Given the description of an element on the screen output the (x, y) to click on. 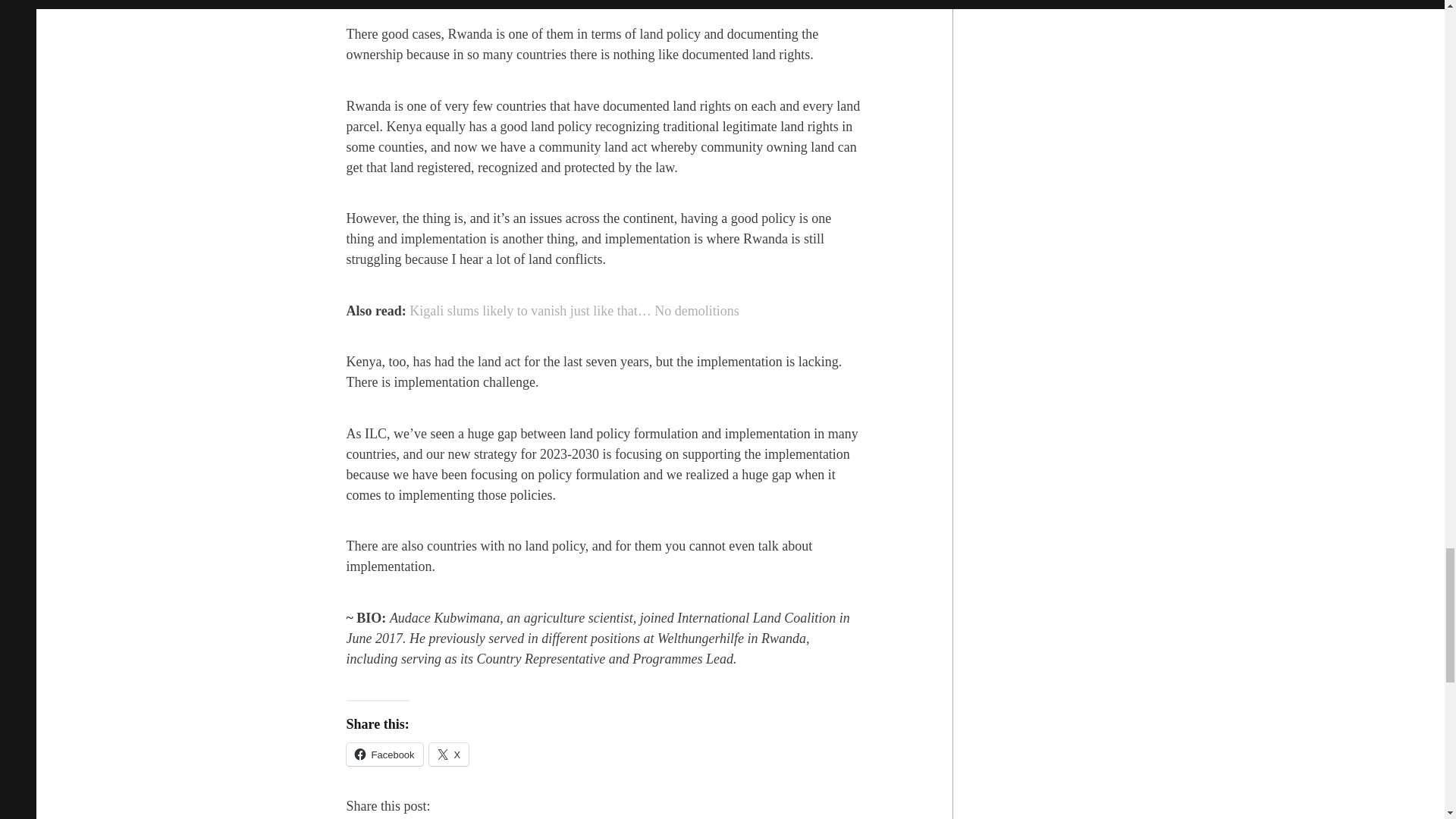
Click to share on X (448, 753)
Click to share on Facebook (384, 753)
X (448, 753)
Facebook (384, 753)
